Given the description of an element on the screen output the (x, y) to click on. 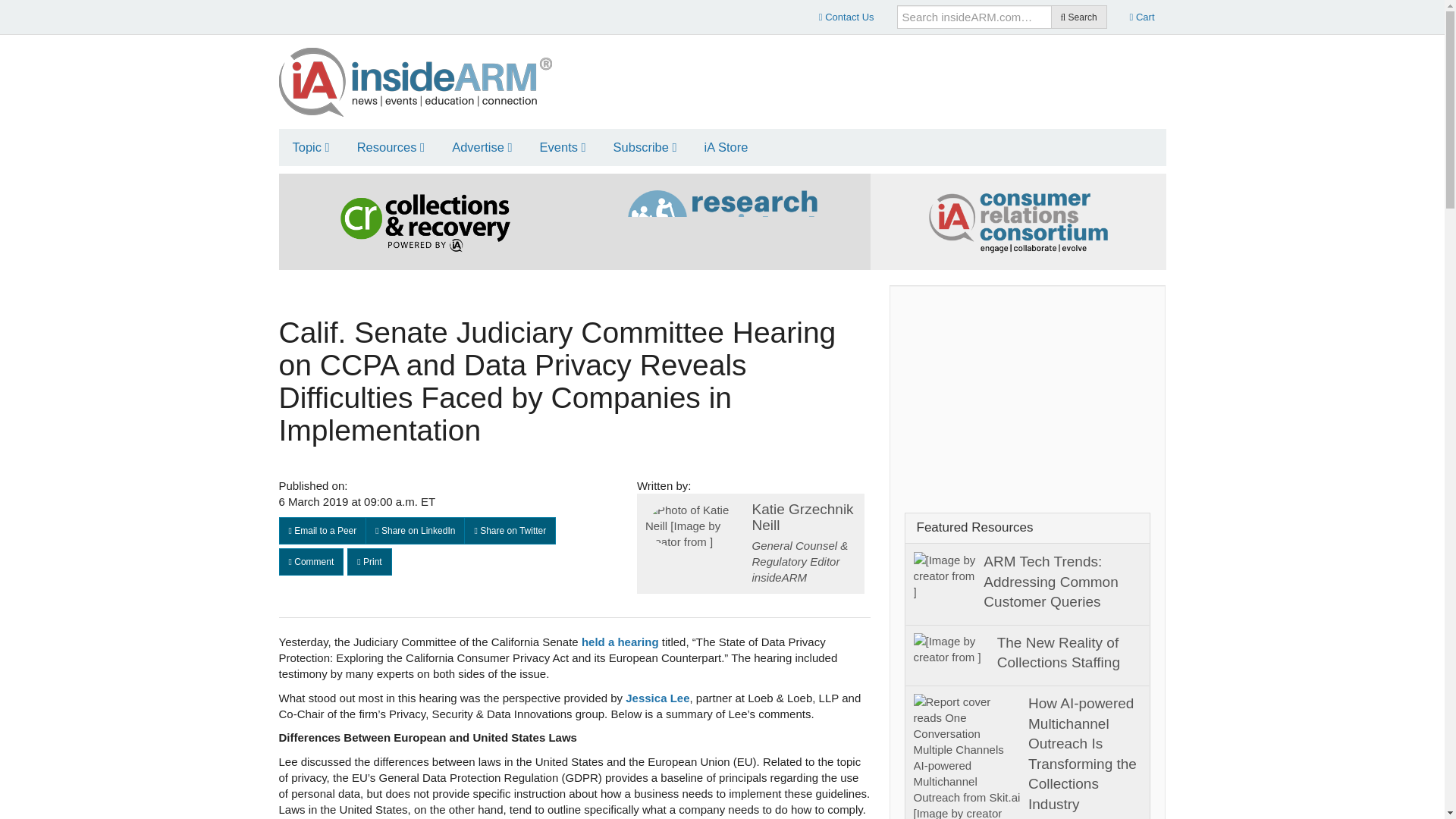
Contact Us (846, 17)
3rd party ad content (889, 75)
Search (1078, 16)
Topic (311, 147)
Cart (1142, 17)
3rd party ad content (1027, 394)
Resources (390, 147)
Advertise (481, 147)
